Given the description of an element on the screen output the (x, y) to click on. 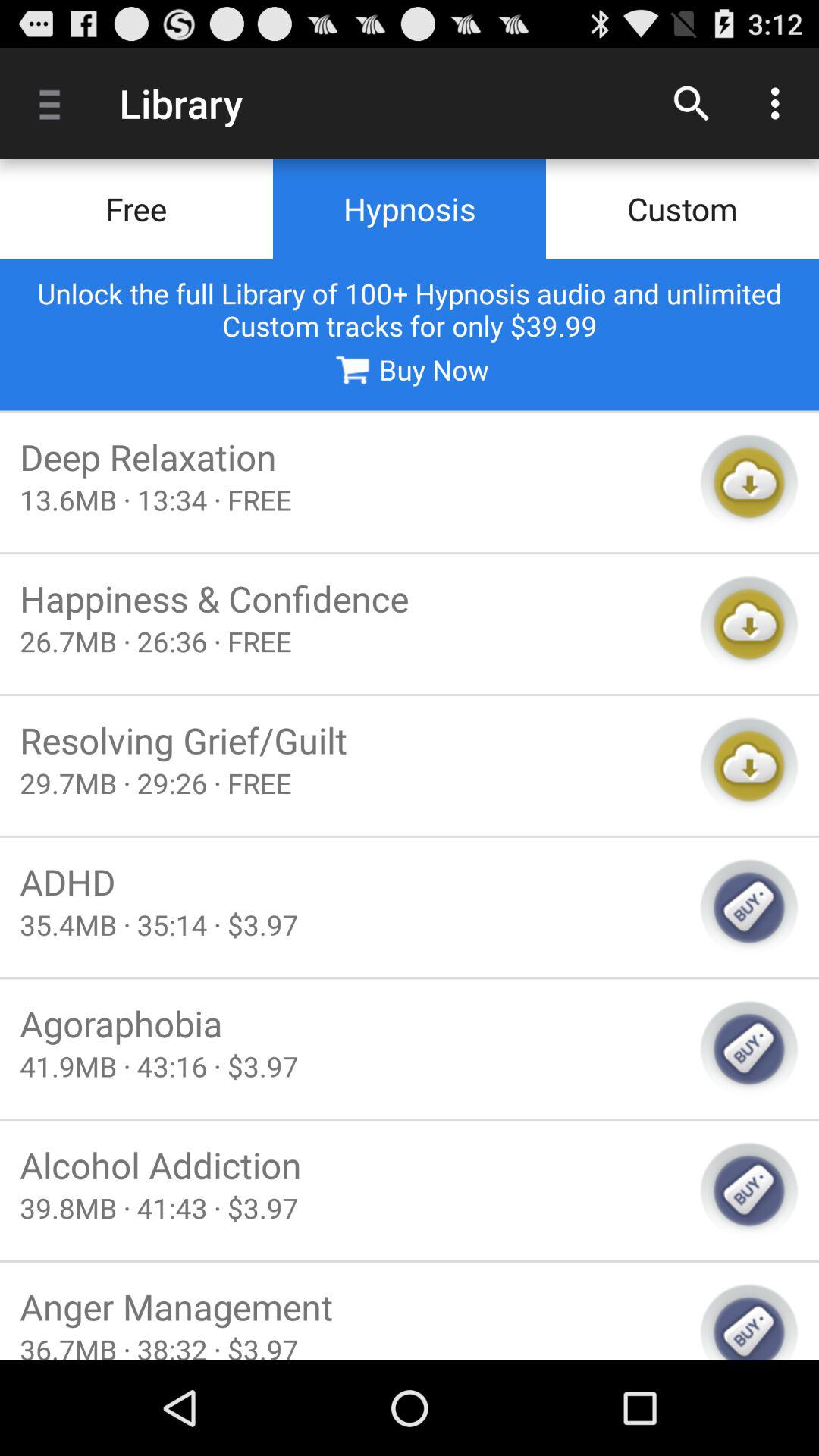
buy anger management book (749, 1321)
